Given the description of an element on the screen output the (x, y) to click on. 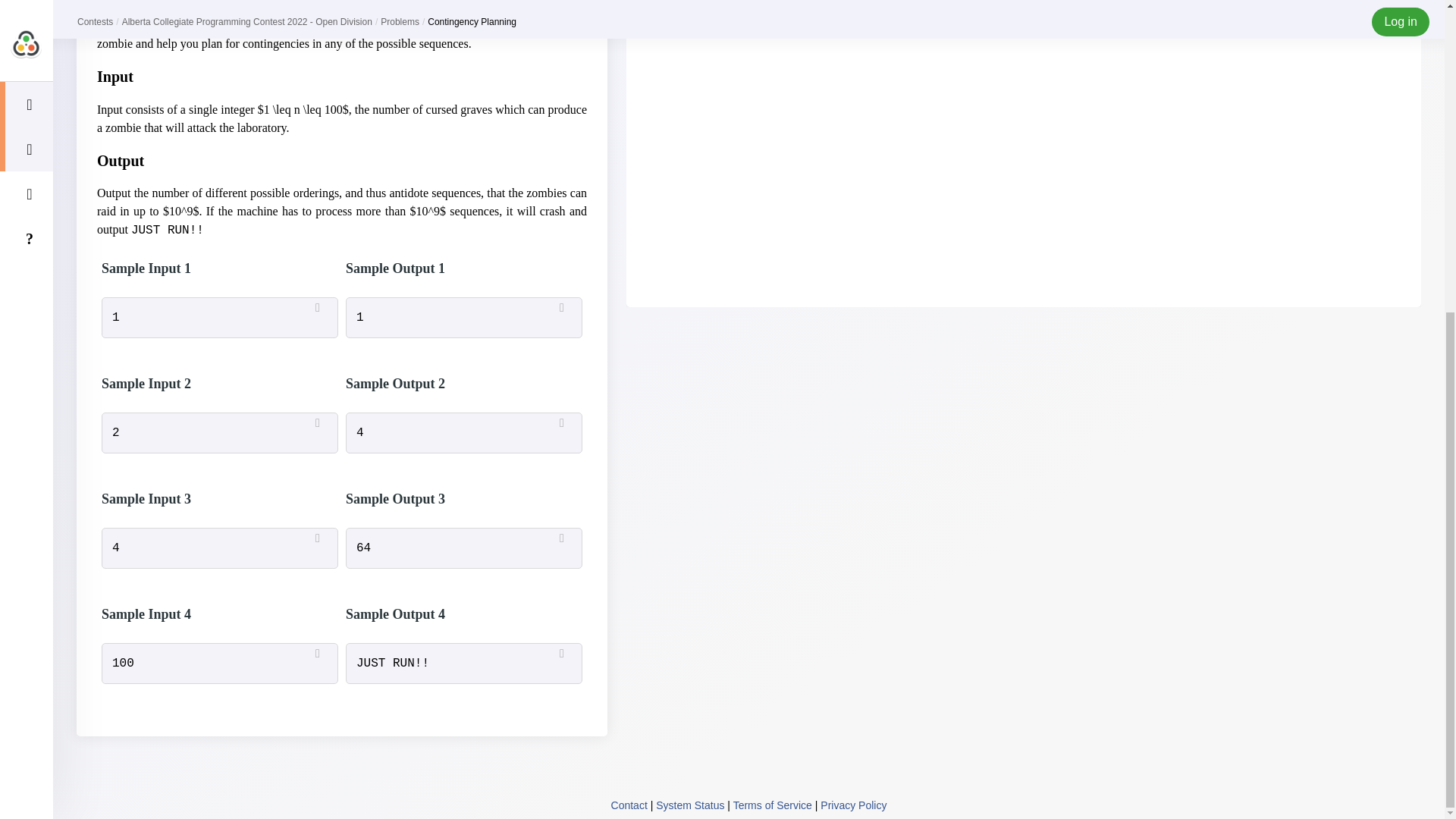
System Status (689, 805)
Privacy Policy (853, 805)
Contact (629, 805)
Log in (1023, 7)
Terms of Service (772, 805)
